Given the description of an element on the screen output the (x, y) to click on. 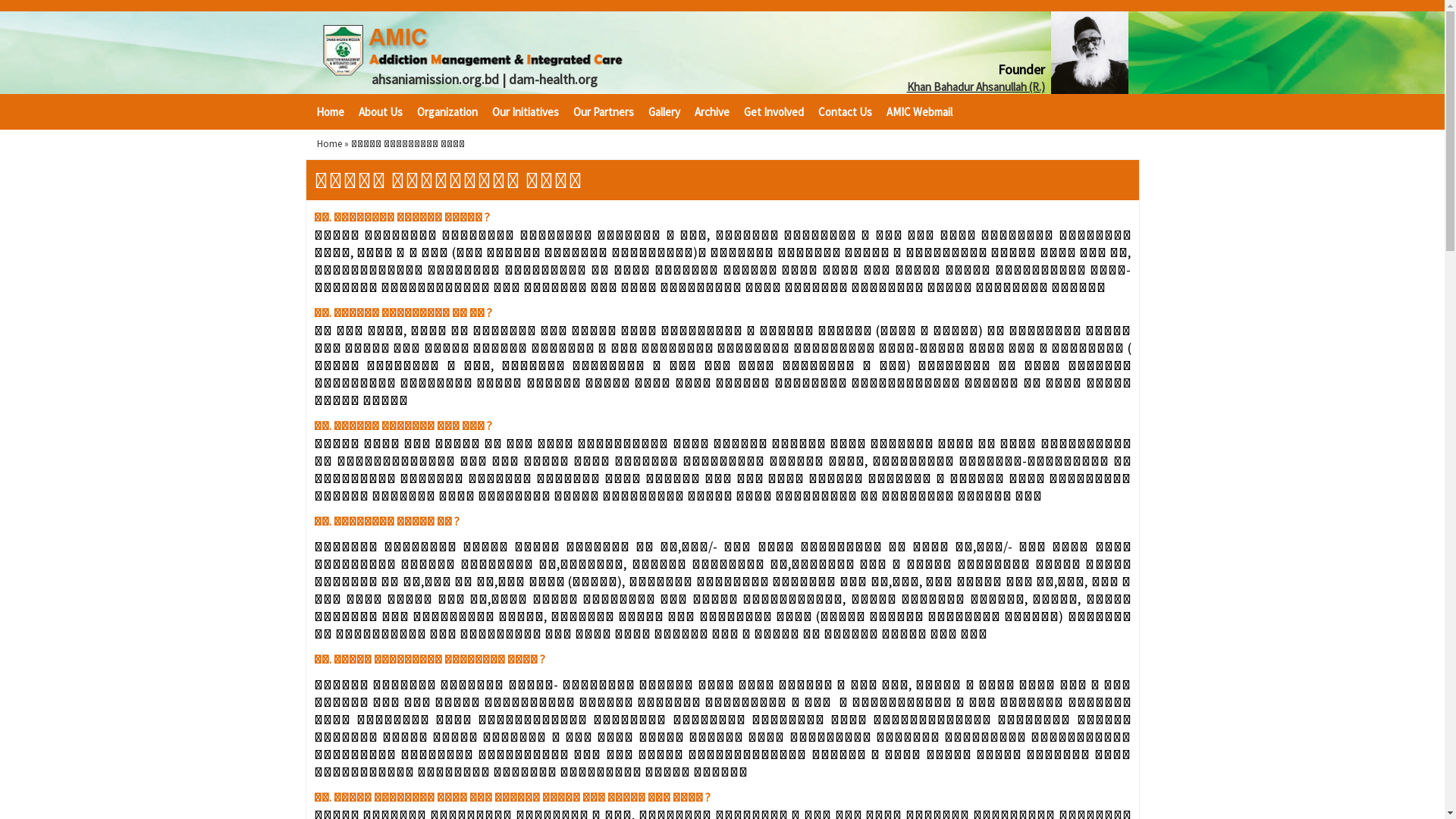
AMIC Webmail Element type: text (915, 111)
dam-health.org Element type: text (552, 78)
Home Element type: text (329, 143)
Contact Us Element type: text (840, 111)
ahsaniamission.org.bd Element type: text (434, 78)
Home Element type: text (325, 111)
Our Partners Element type: text (599, 111)
Get Involved Element type: text (769, 111)
Organization Element type: text (443, 111)
Khan Bahadur Ahsanullah (R.) Element type: text (975, 86)
Archive Element type: text (708, 111)
AMIC Element type: hover (513, 47)
Gallery Element type: text (660, 111)
Our Initiatives Element type: text (520, 111)
About Us Element type: text (376, 111)
